Given the description of an element on the screen output the (x, y) to click on. 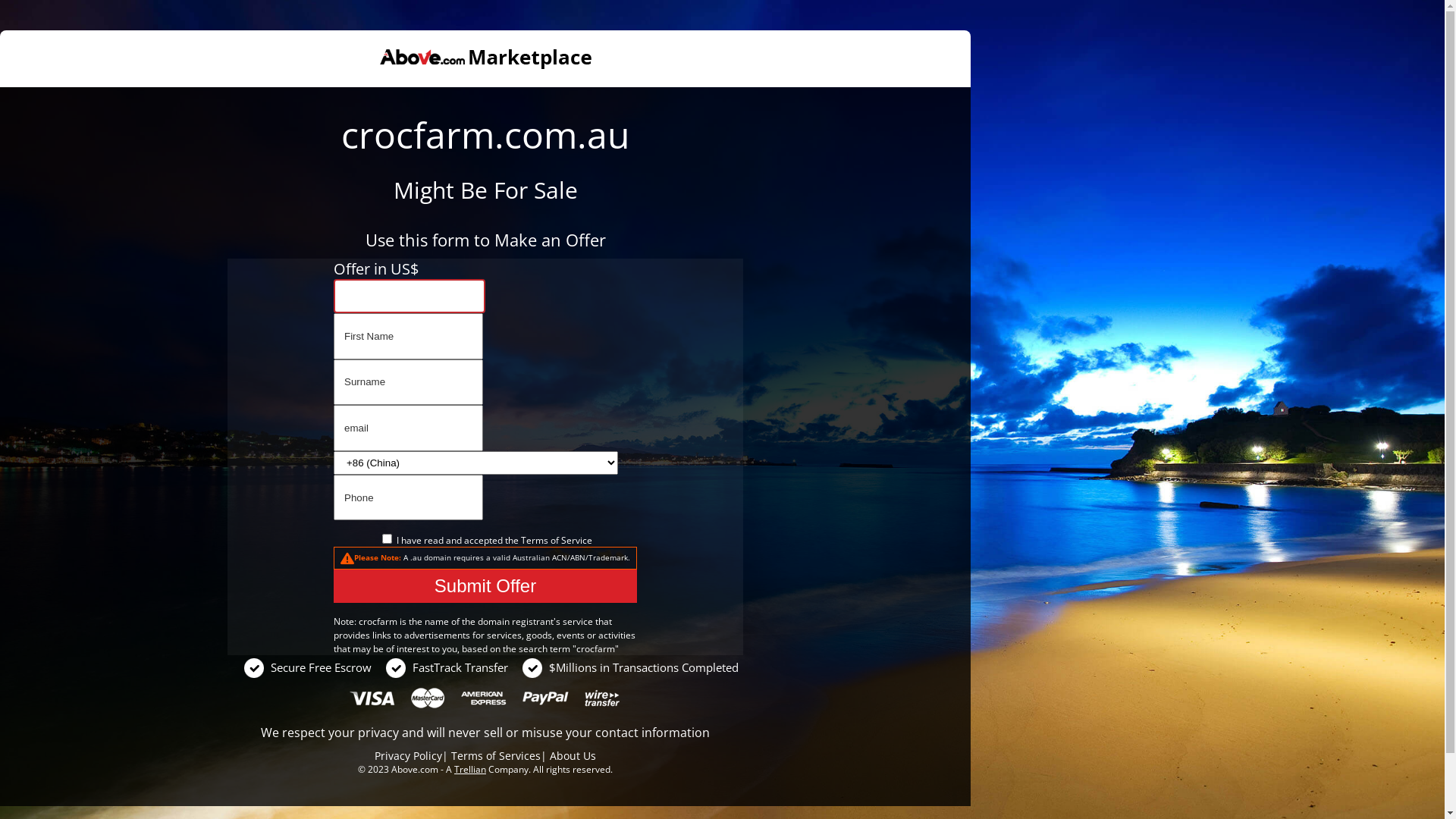
Submit Offer Element type: text (485, 585)
Terms Element type: text (533, 539)
About Us Element type: text (572, 755)
Terms of Services Element type: text (495, 755)
Trellian Element type: text (470, 768)
Privacy Policy Element type: text (408, 755)
